Given the description of an element on the screen output the (x, y) to click on. 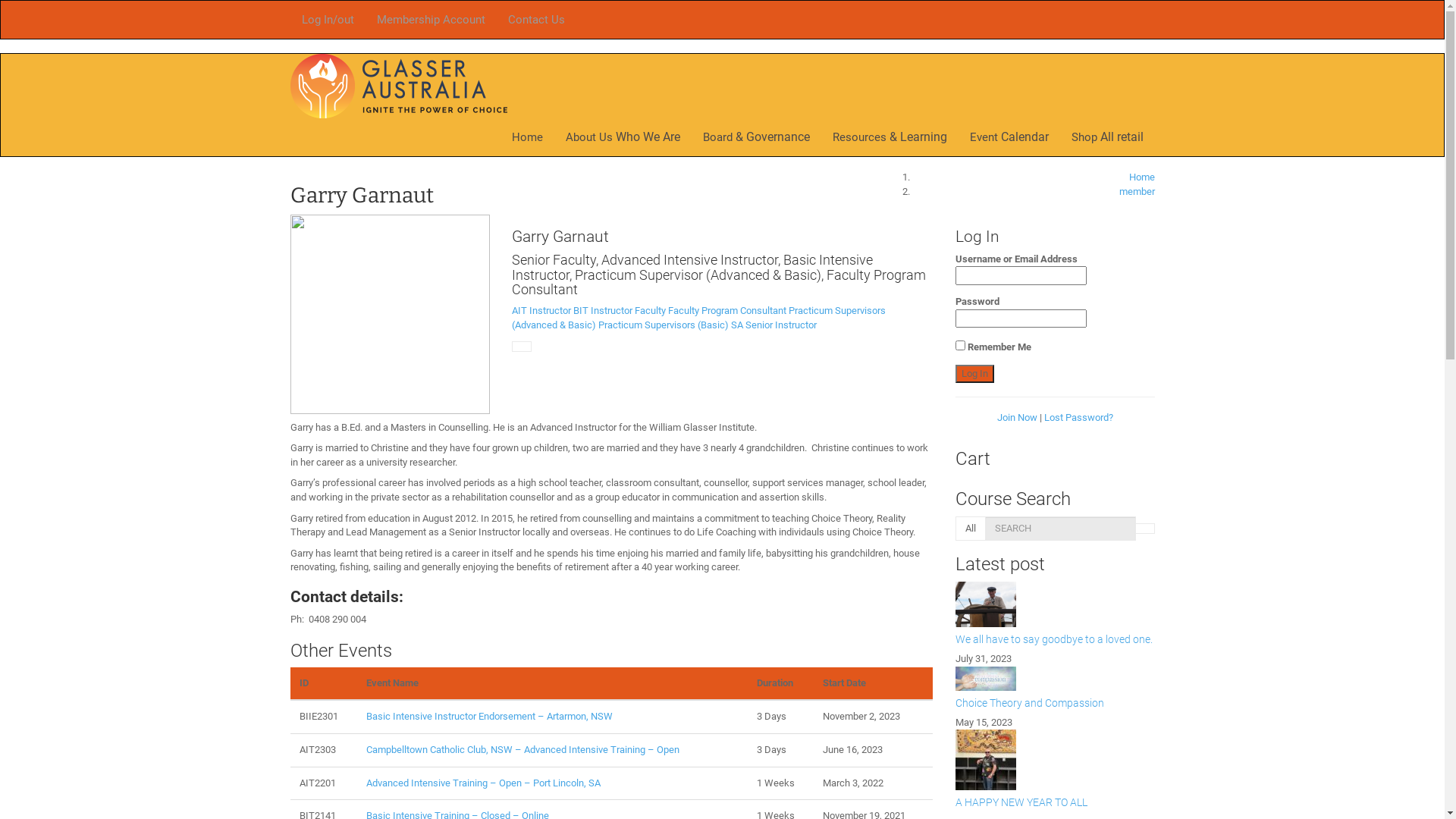
Practicum Supervisors (Advanced & Basic) Element type: text (698, 317)
A HAPPY NEW YEAR TO ALL Element type: text (1021, 802)
Log In Element type: text (974, 373)
Membership Account Element type: text (430, 19)
Contact Us Element type: text (535, 19)
A HAPPY NEW YEAR TO ALL Element type: hover (1054, 759)
SA Element type: text (737, 324)
Faculty Program Consultant Element type: text (727, 310)
BIT Instructor Element type: text (602, 310)
Lost Password? Element type: text (1078, 417)
Faculty Element type: text (649, 310)
All Element type: text (970, 528)
About Us Who We Are Element type: text (621, 137)
Garry Garnaut | Glasser Australia Element type: hover (397, 85)
Shop All retail Element type: text (1107, 137)
Join Now Element type: text (1017, 417)
We all have to say goodbye to a loved one. Element type: text (1053, 639)
Choice Theory and Compassion Element type: hover (1054, 678)
Choice Theory and Compassion Element type: text (1029, 702)
AIT Instructor Element type: text (541, 310)
Home Element type: text (527, 137)
Senior Instructor Element type: text (780, 324)
We all have to say goodbye to a loved one. Element type: hover (1054, 604)
Resources & Learning Element type: text (888, 137)
Board & Governance Element type: text (756, 137)
Practicum Supervisors (Basic) Element type: text (663, 324)
Log In/out Element type: text (326, 19)
Event Calendar Element type: text (1009, 137)
member Element type: text (1136, 191)
Home Element type: text (1141, 176)
